Given the description of an element on the screen output the (x, y) to click on. 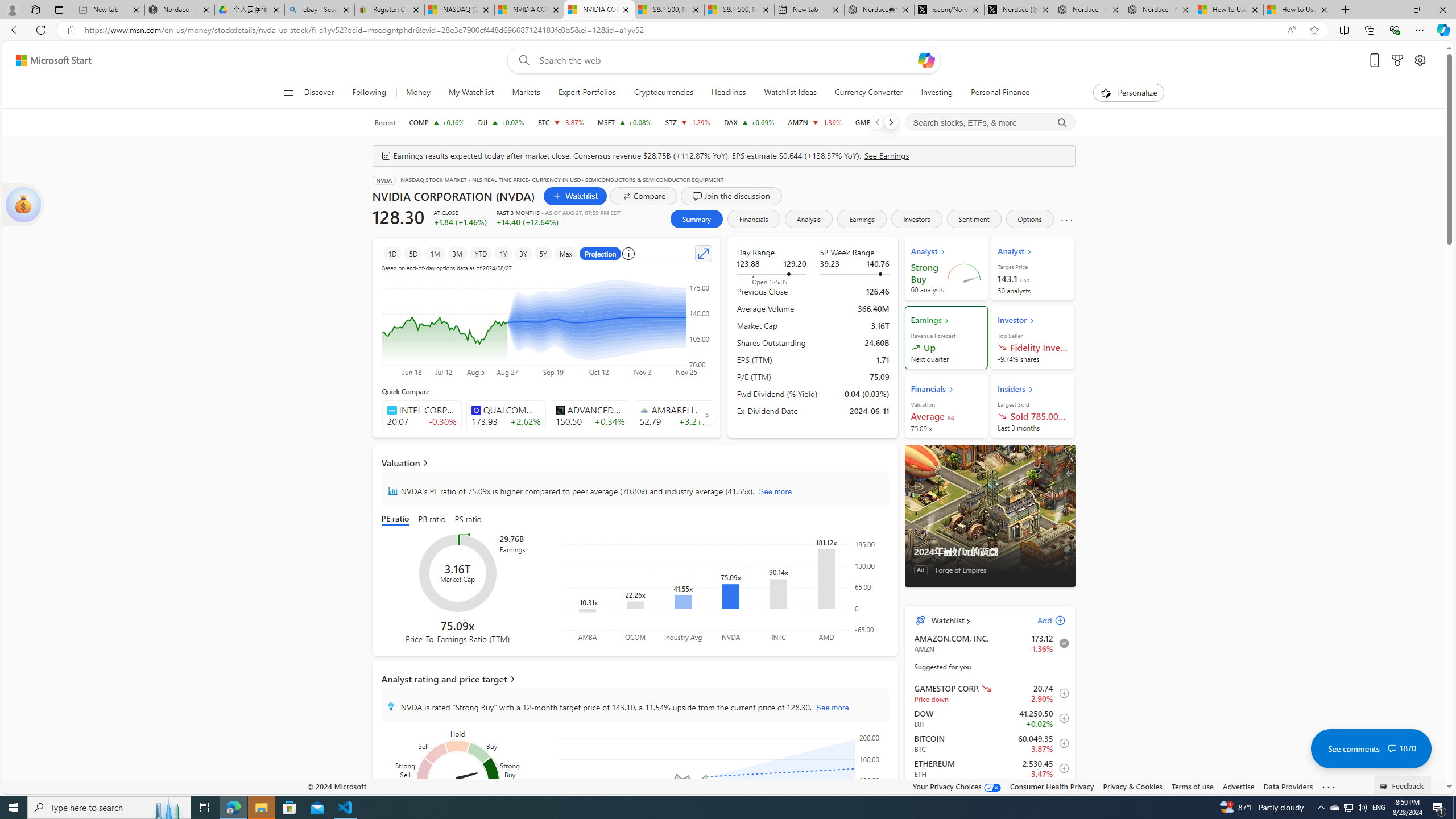
Open settings (1420, 60)
Skip to content (49, 59)
1M (435, 253)
AutomationID: finance_carousel_navi_right (706, 415)
PE ratio (397, 520)
Class: oneFooter_seeMore-DS-EntryPoint1-1 (1328, 786)
Class: button-glyph (287, 92)
Investing (936, 92)
Compare (644, 195)
5Y (542, 253)
